Given the description of an element on the screen output the (x, y) to click on. 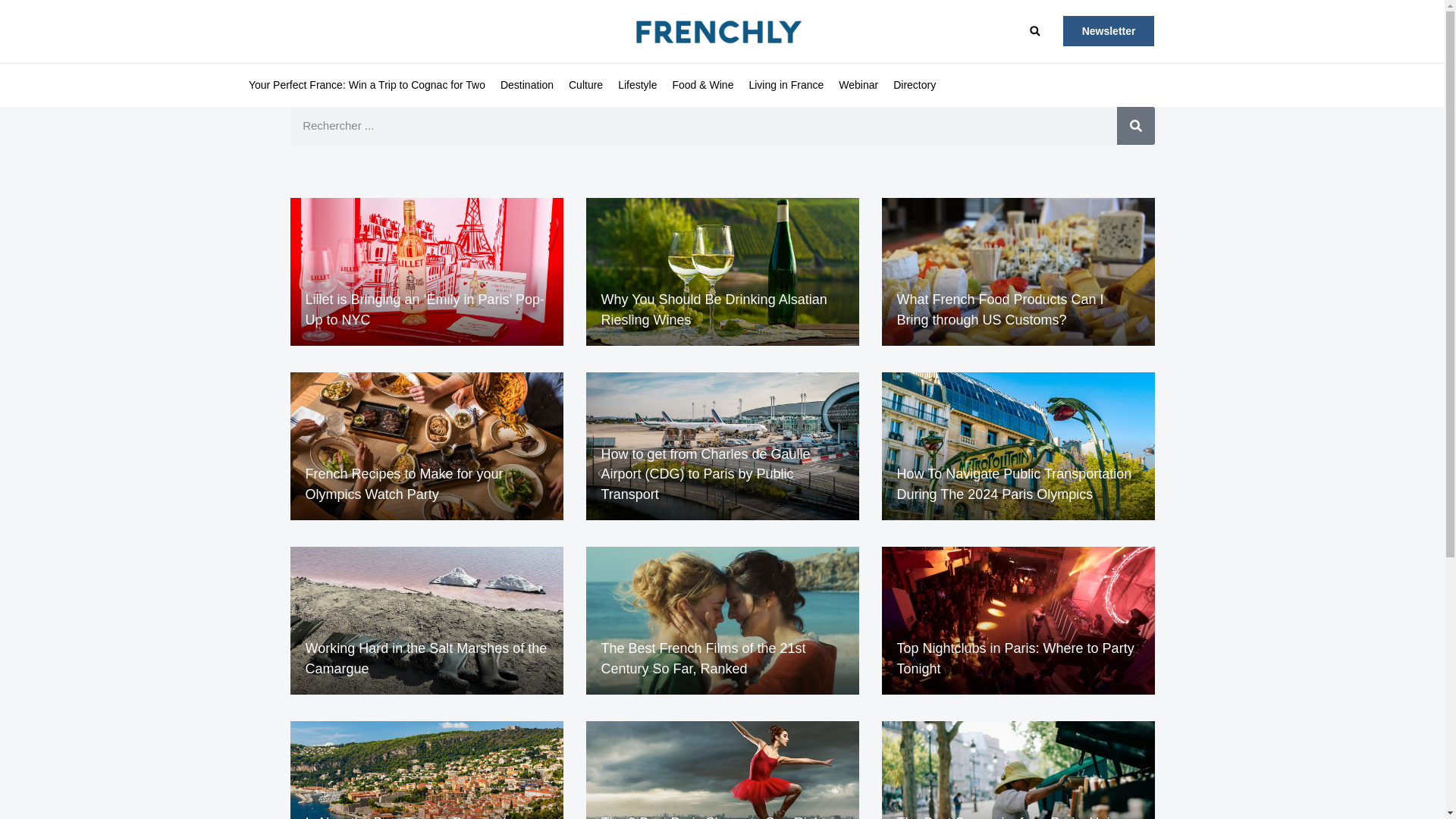
Newsletter (1108, 30)
Directory (914, 85)
Your Perfect France: Win a Trip to Cognac for Two (367, 85)
Living in France (786, 85)
Culture (585, 85)
Lifestyle (636, 85)
Webinar (858, 85)
Destination (526, 85)
